Given the description of an element on the screen output the (x, y) to click on. 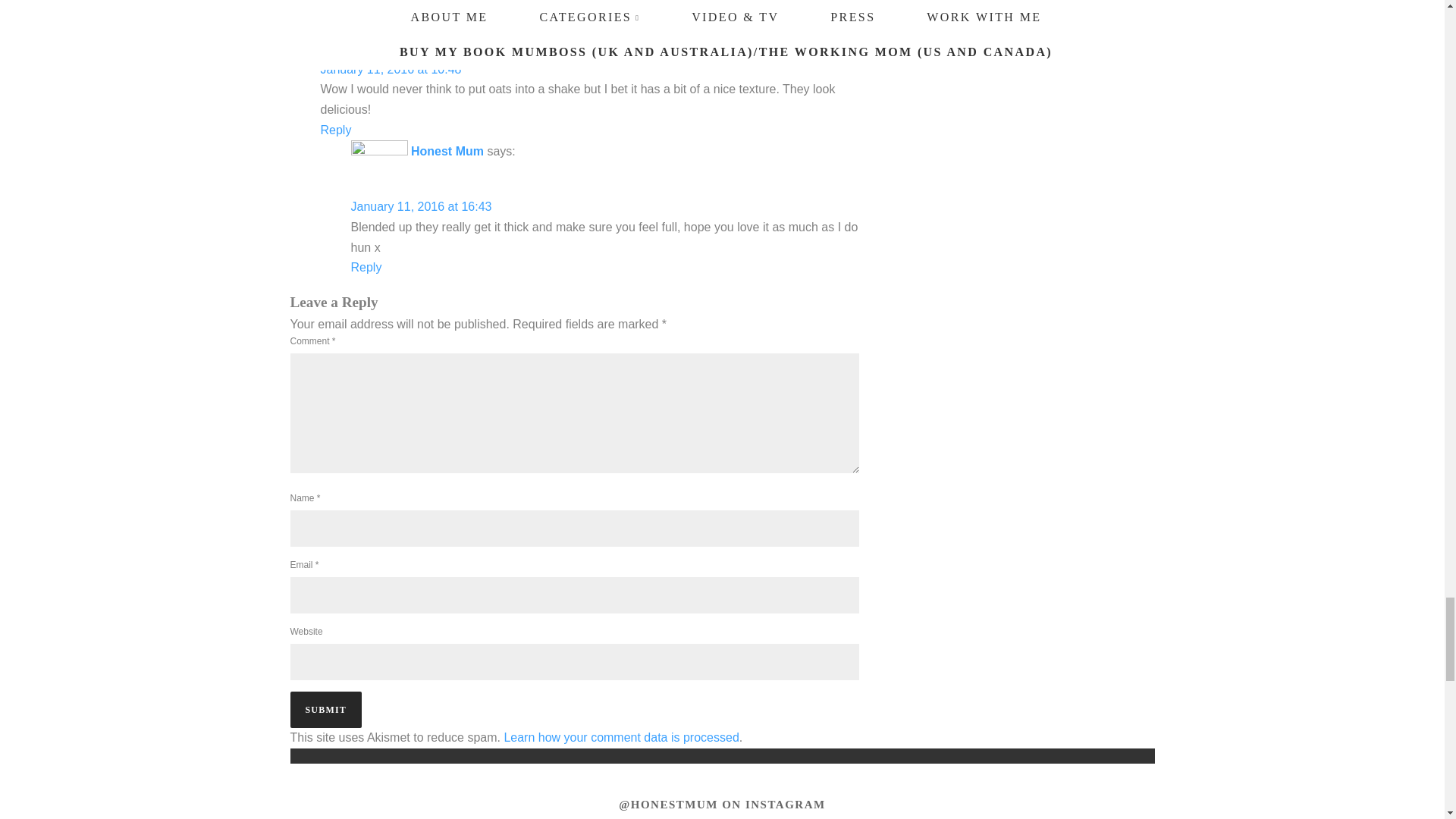
Submit (325, 709)
